Given the description of an element on the screen output the (x, y) to click on. 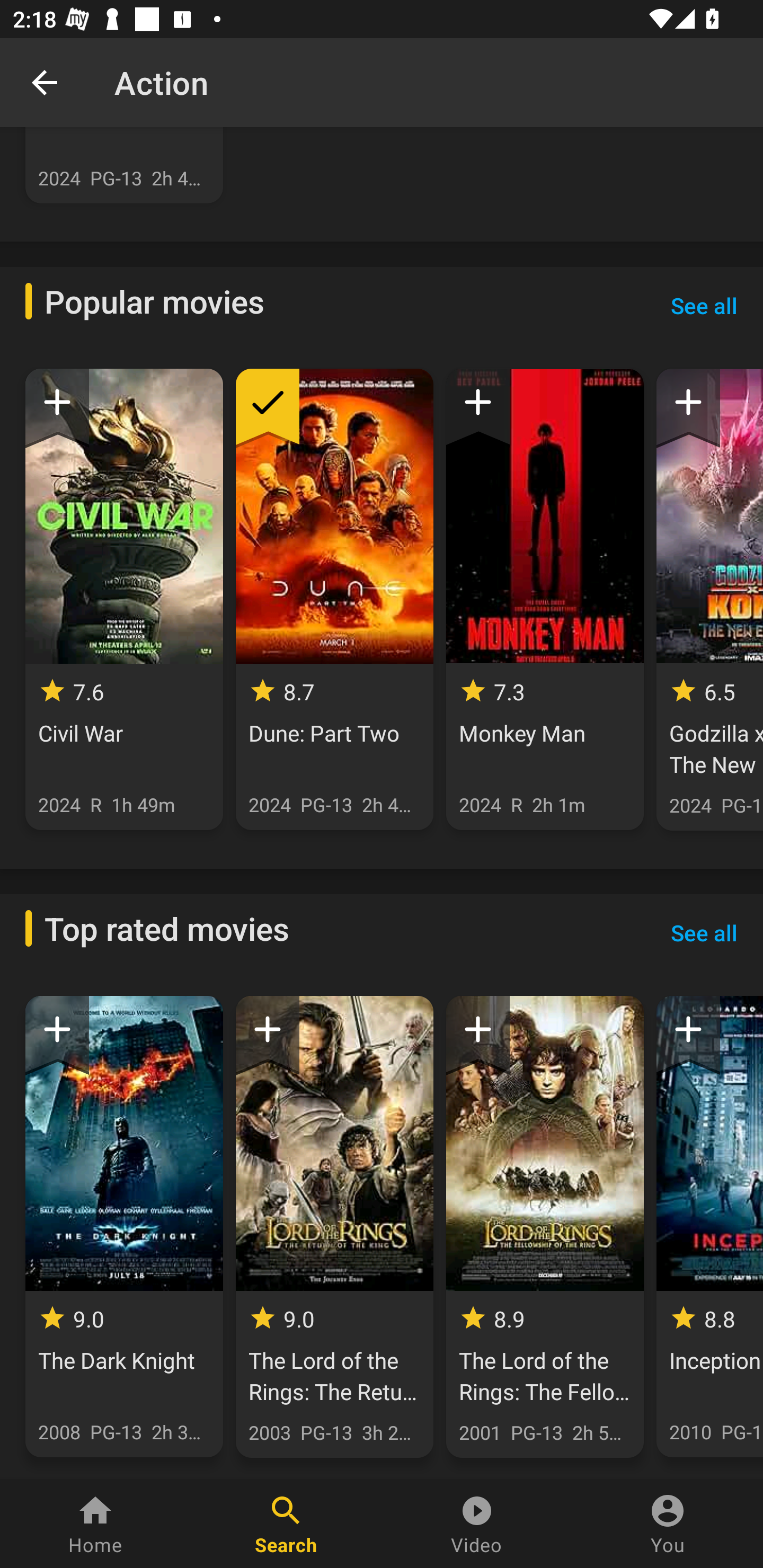
Dune: Part Two 2024  PG-13  2h 46m (123, 165)
See all See all Popular movies (703, 305)
7.6 Civil War 2024  R  1h 49m (123, 598)
8.7 Dune: Part Two 2024  PG-13  2h 46m (334, 598)
7.3 Monkey Man 2024  R  2h 1m (544, 598)
See all See all Top rated movies (703, 932)
9.0 The Dark Knight 2008  PG-13  2h 32m (123, 1225)
8.8 Inception 2010  PG-13  2h 28m (709, 1225)
Home (95, 1523)
Video (476, 1523)
You (667, 1523)
